Given the description of an element on the screen output the (x, y) to click on. 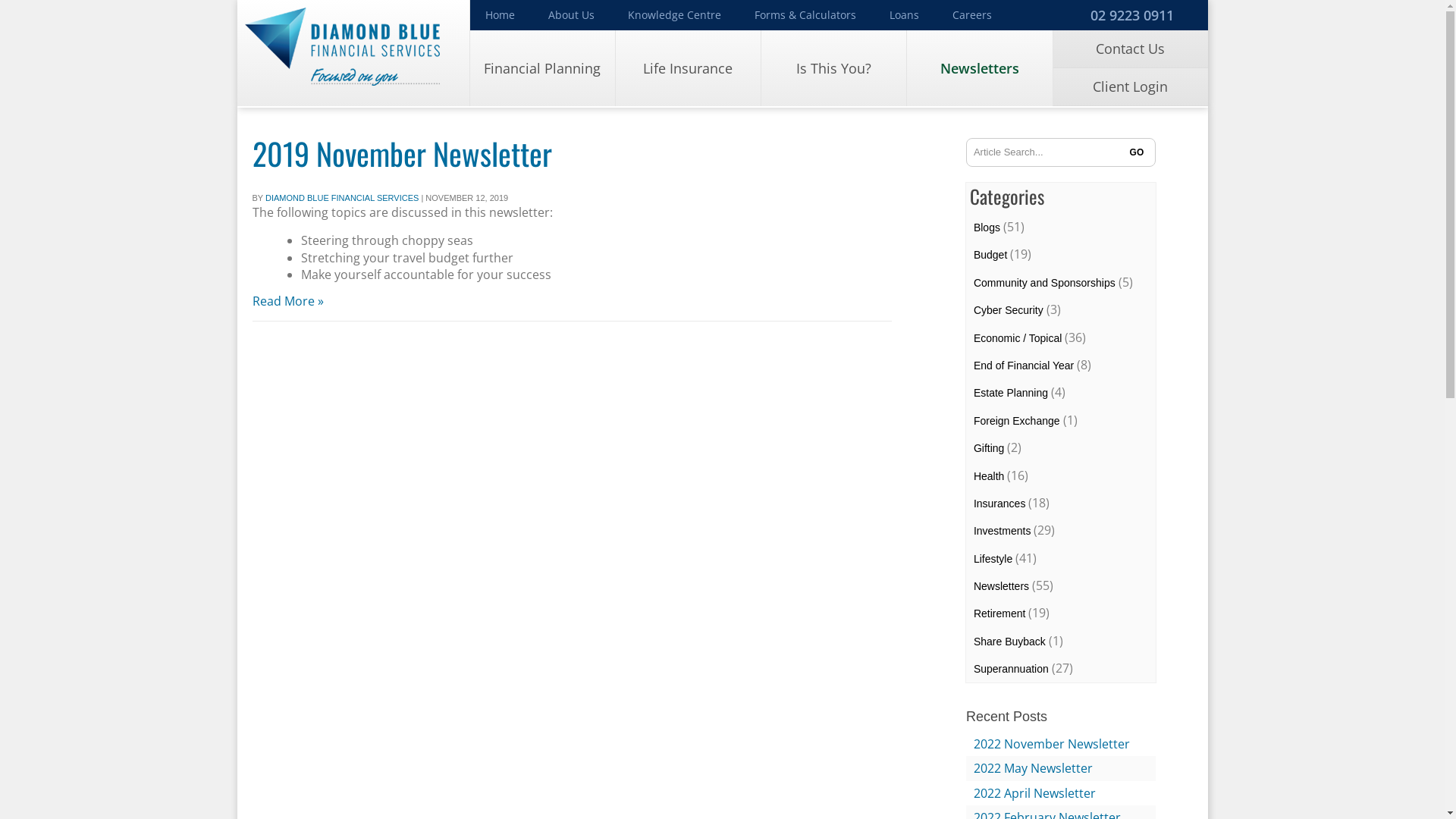
Newsletters Element type: text (1001, 586)
Careers Element type: text (972, 15)
Client Login Element type: text (1130, 87)
Is This You? Element type: text (833, 68)
GO Element type: text (1136, 152)
2022 November Newsletter Element type: text (1051, 743)
Estate Planning Element type: text (1010, 392)
Community and Sponsorships Element type: text (1044, 282)
Superannuation Element type: text (1010, 668)
Lifestyle Element type: text (992, 558)
Retirement Element type: text (999, 613)
Financial Planning Element type: text (542, 68)
Newsletters Element type: text (979, 68)
Gifting Element type: text (988, 448)
Home Element type: text (500, 15)
Health Element type: text (988, 476)
End of Financial Year Element type: text (1023, 365)
Investments Element type: text (1001, 530)
Cyber Security Element type: text (1008, 310)
Knowledge Centre Element type: text (674, 15)
2019 November Newsletter Element type: text (401, 152)
About Us Element type: text (571, 15)
Contact Us Element type: text (1130, 49)
Loans Element type: text (904, 15)
Foreign Exchange Element type: text (1016, 420)
Life Insurance Element type: text (687, 68)
Economic / Topical Element type: text (1017, 338)
2022 April Newsletter Element type: text (1034, 792)
02 9223 0911 Element type: text (1130, 15)
Diamond Blue Financial Services Element type: hover (352, 53)
Share Buyback Element type: text (1009, 641)
Forms & Calculators Element type: text (805, 15)
Blogs Element type: text (986, 227)
2022 May Newsletter Element type: text (1032, 767)
Insurances Element type: text (999, 503)
Budget Element type: text (990, 254)
DIAMOND BLUE FINANCIAL SERVICES Element type: text (341, 197)
